Given the description of an element on the screen output the (x, y) to click on. 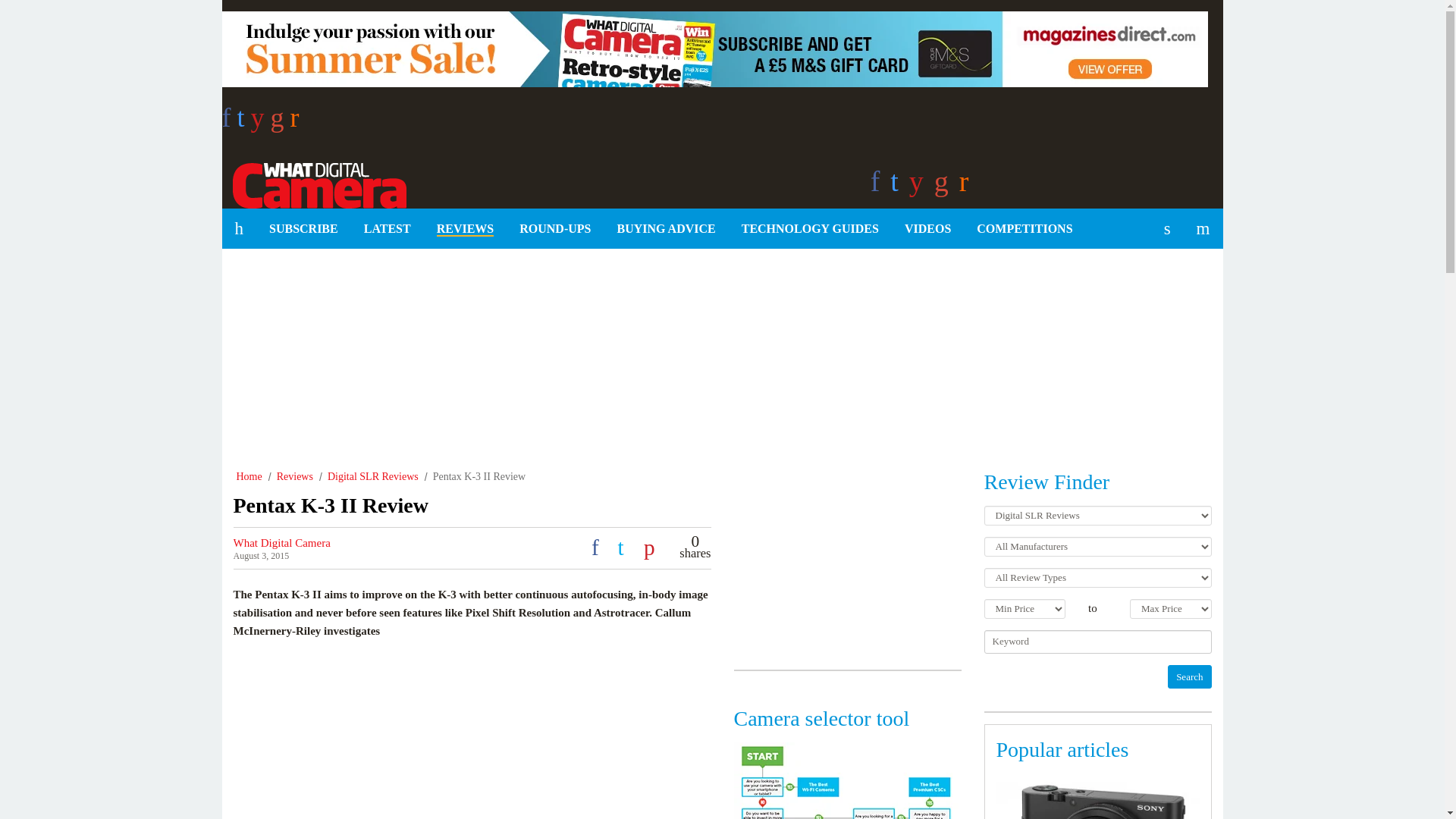
REVIEWS (464, 228)
ROUND-UPS (555, 228)
LATEST (386, 228)
f (228, 122)
g (279, 122)
SUBSCRIBE (303, 228)
What Digital Camera (313, 182)
What Digital Camera (313, 182)
BUYING ADVICE (666, 228)
y (260, 122)
t (242, 122)
What Digital Camera's Profile (281, 542)
Search (1189, 677)
